Given the description of an element on the screen output the (x, y) to click on. 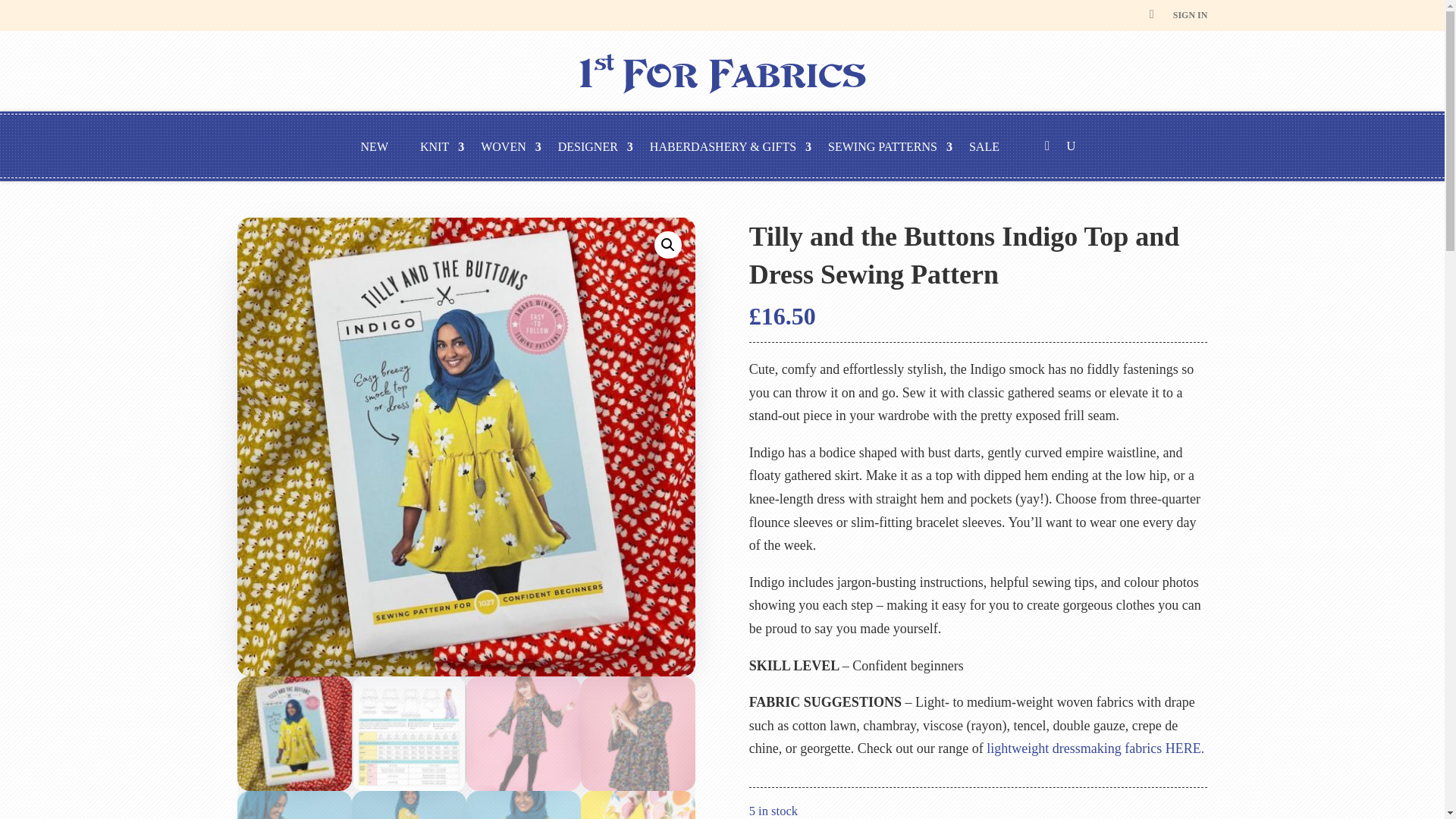
WOVEN (510, 148)
